Given the description of an element on the screen output the (x, y) to click on. 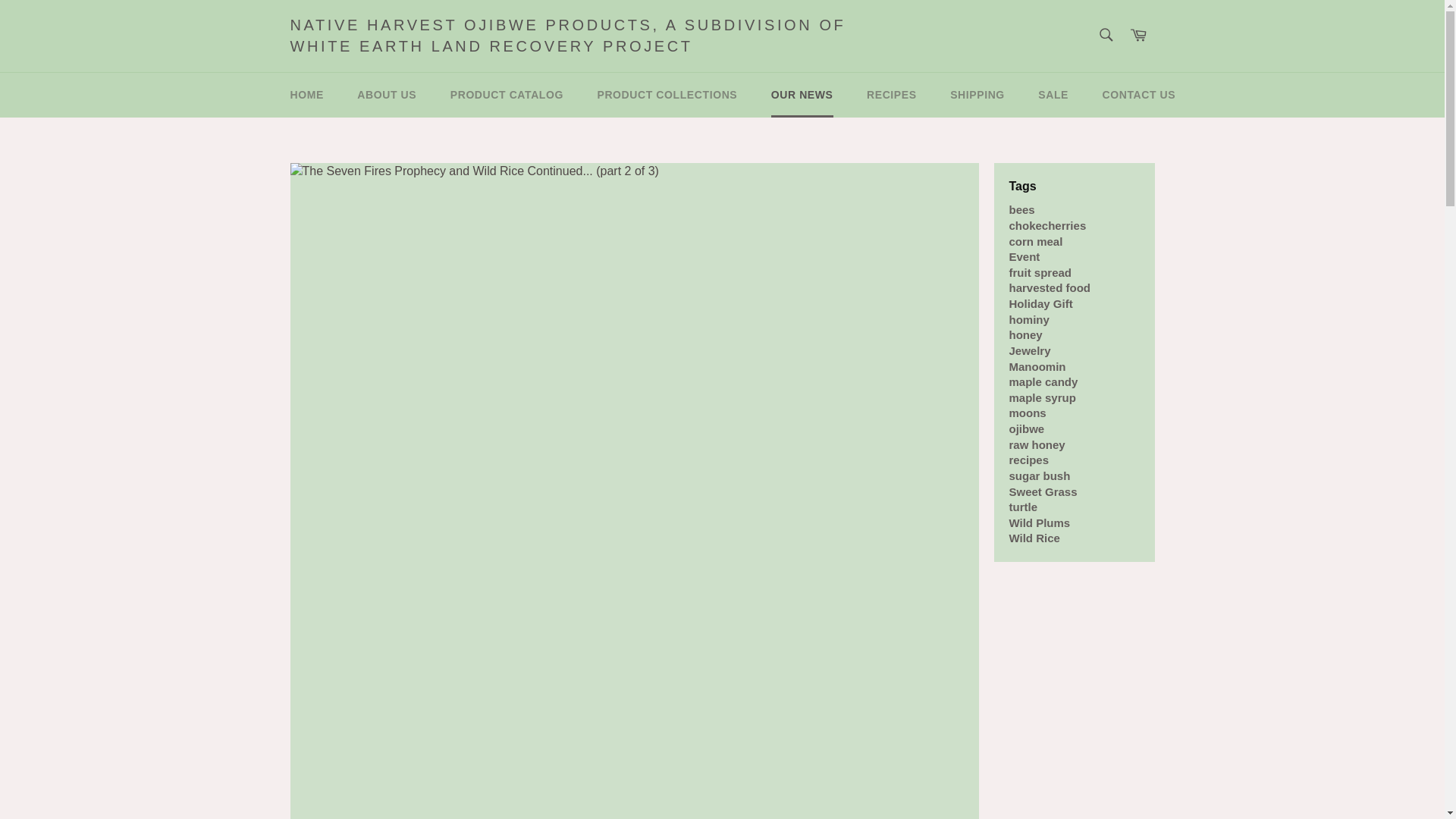
Show articles tagged bees (1021, 209)
Cart (1138, 35)
Show articles tagged hominy (1028, 318)
PRODUCT COLLECTIONS (666, 94)
chokecherries (1047, 225)
SALE (1053, 94)
ABOUT US (386, 94)
Show articles tagged corn meal (1035, 241)
OUR NEWS (801, 94)
